Given the description of an element on the screen output the (x, y) to click on. 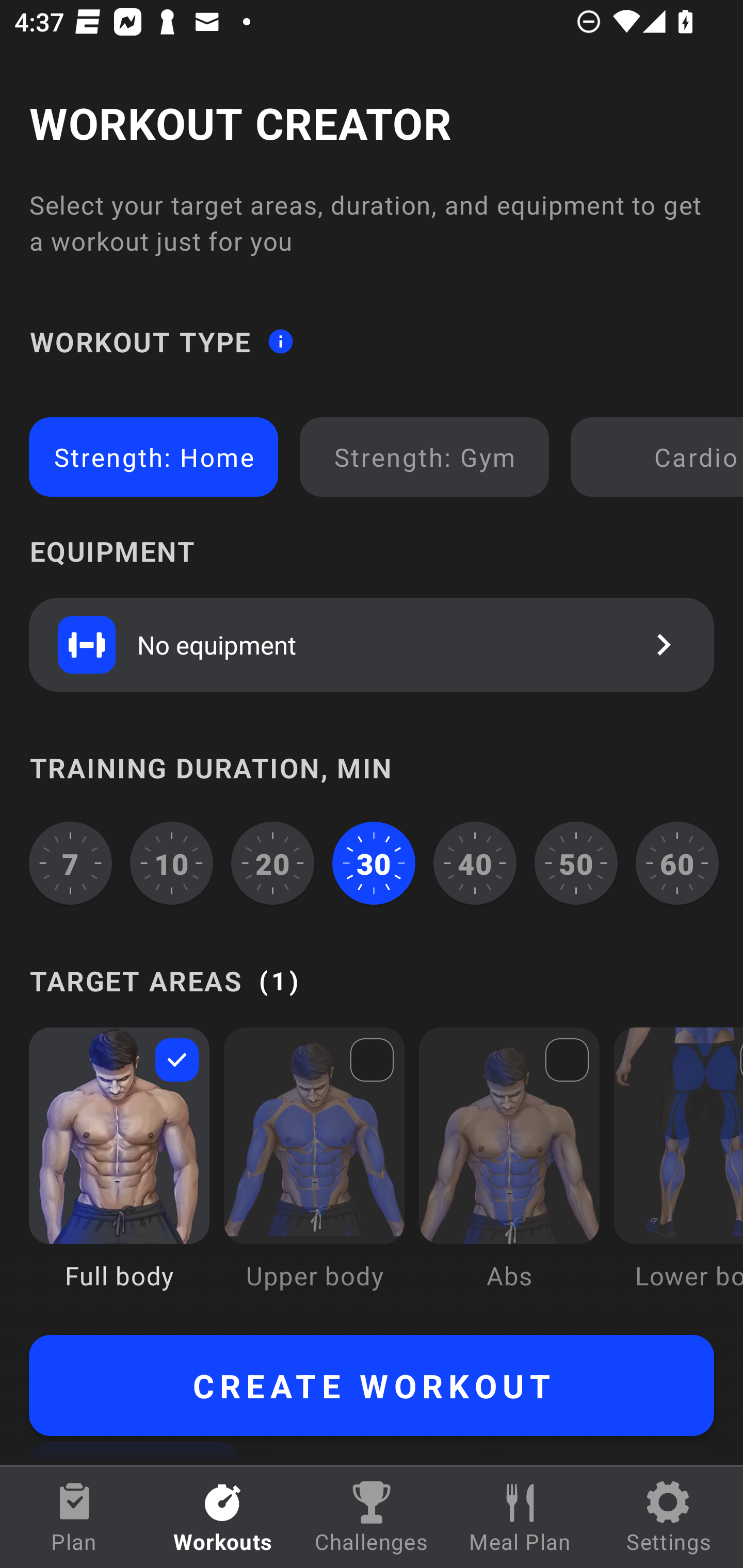
Workout type information button (280, 340)
Strength: Gym (423, 457)
Cardio (660, 457)
No equipment (371, 644)
7 (70, 862)
10 (171, 862)
20 (272, 862)
30 (373, 862)
40 (474, 862)
50 (575, 862)
60 (676, 862)
Upper body (313, 1172)
Abs (509, 1172)
Lower body (678, 1172)
CREATE WORKOUT (371, 1385)
 Plan  (74, 1517)
 Challenges  (371, 1517)
 Meal Plan  (519, 1517)
 Settings  (668, 1517)
